Given the description of an element on the screen output the (x, y) to click on. 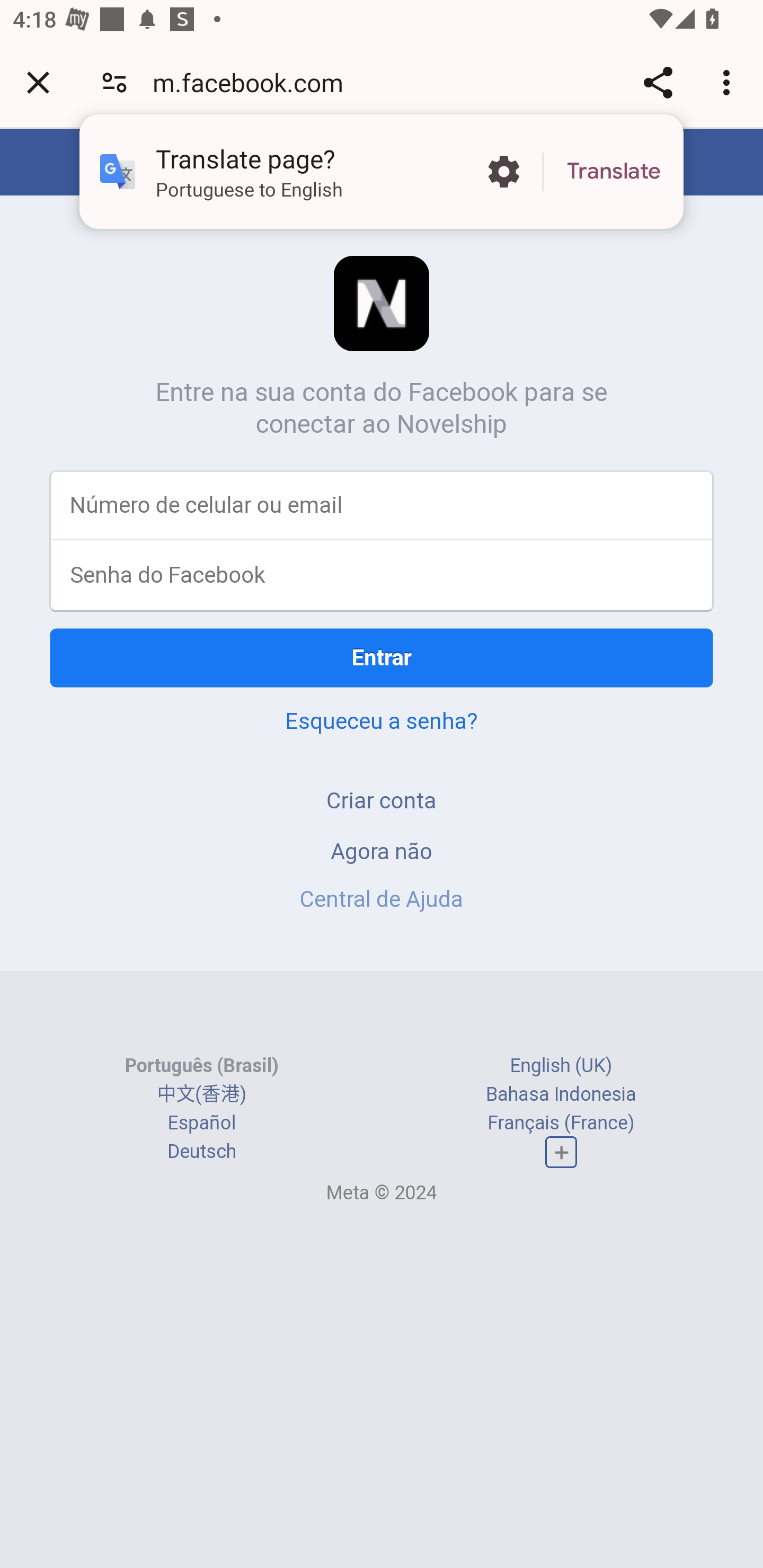
Close tab (38, 82)
Share (657, 82)
Customize and control Google Chrome (729, 82)
Connection is secure (114, 81)
m.facebook.com (254, 81)
Translate (613, 171)
More options in the Translate page? (503, 171)
Entrar (381, 657)
Esqueceu a senha? (381, 720)
Criar conta (381, 800)
Agora não (381, 850)
Central de Ajuda (381, 898)
English (UK) (560, 1065)
中文(香港) (201, 1093)
Bahasa Indonesia (560, 1093)
Español (201, 1122)
Français (France) (560, 1122)
Lista completa de idiomas (560, 1152)
Deutsch (201, 1151)
